Given the description of an element on the screen output the (x, y) to click on. 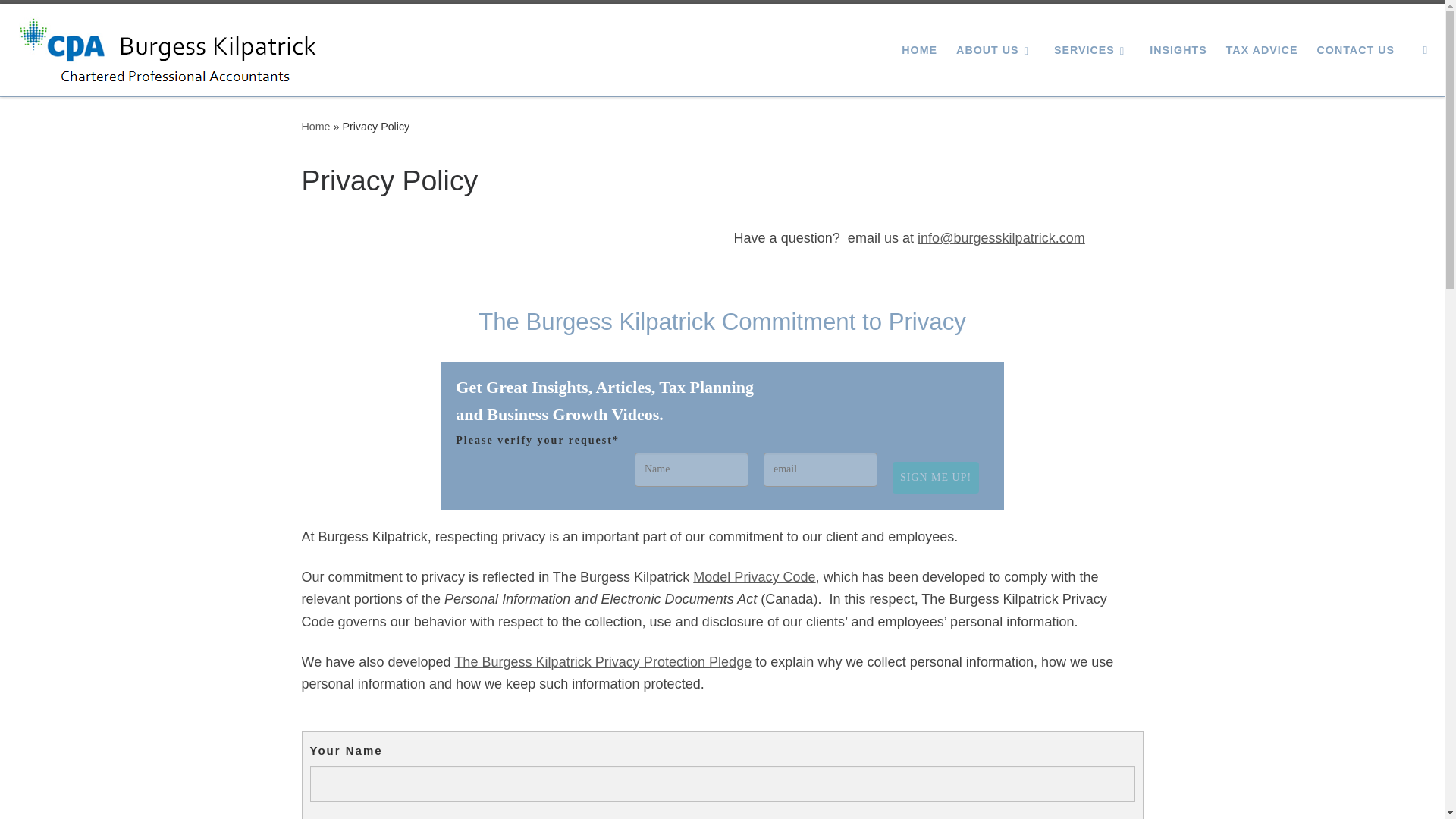
INSIGHTS (1177, 49)
ABOUT US (995, 49)
HOME (919, 49)
TAX ADVICE (1261, 49)
SERVICES (1092, 49)
Home (315, 126)
CONTACT US (1355, 49)
